Given the description of an element on the screen output the (x, y) to click on. 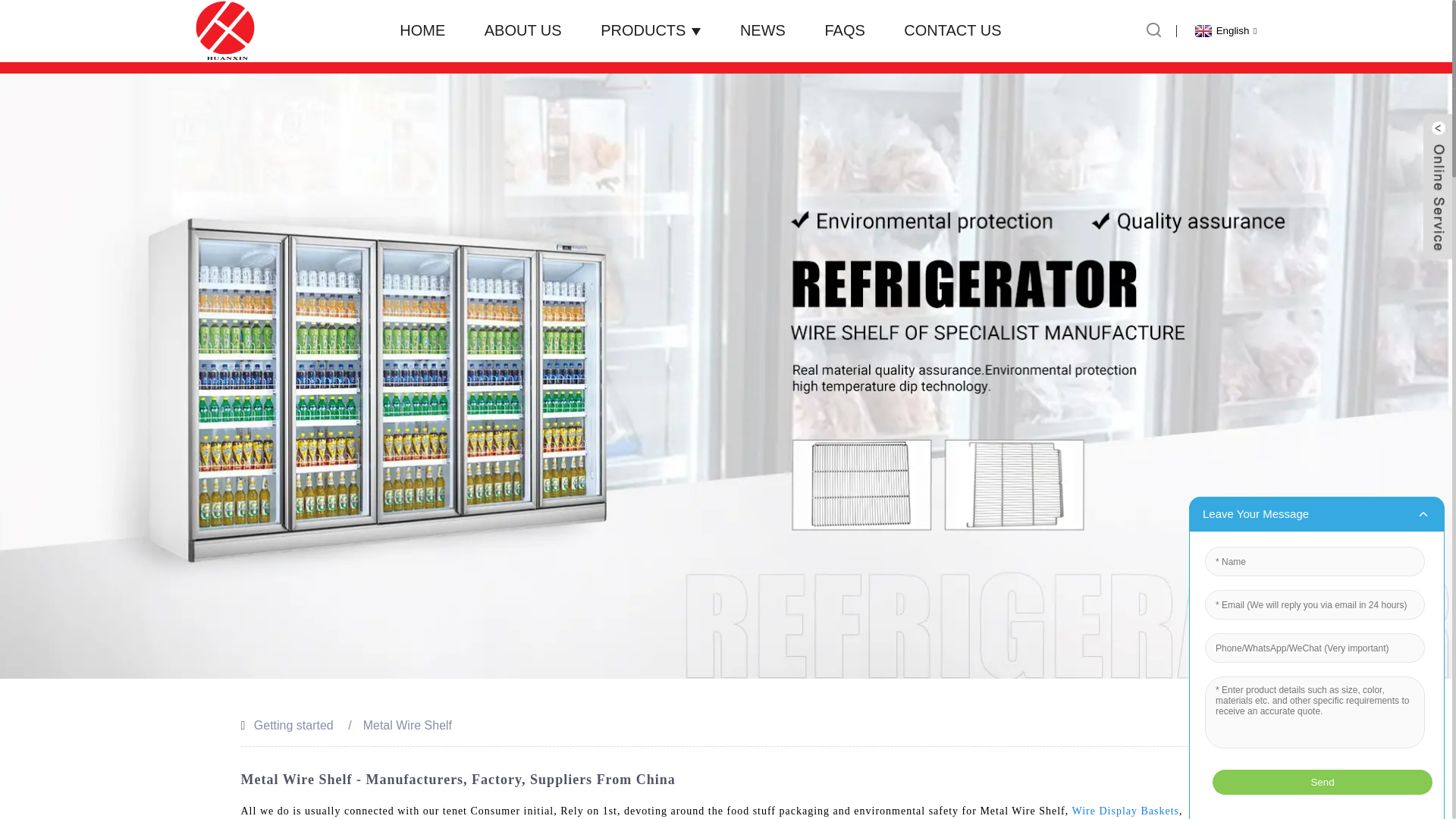
ABOUT US (523, 30)
Wire Display Baskets (1125, 810)
Metal Wire Shelf (406, 725)
PRODUCTS (649, 30)
Getting started (293, 725)
Wire Display Baskets (1125, 810)
CONTACT US (952, 30)
English (1224, 30)
